Given the description of an element on the screen output the (x, y) to click on. 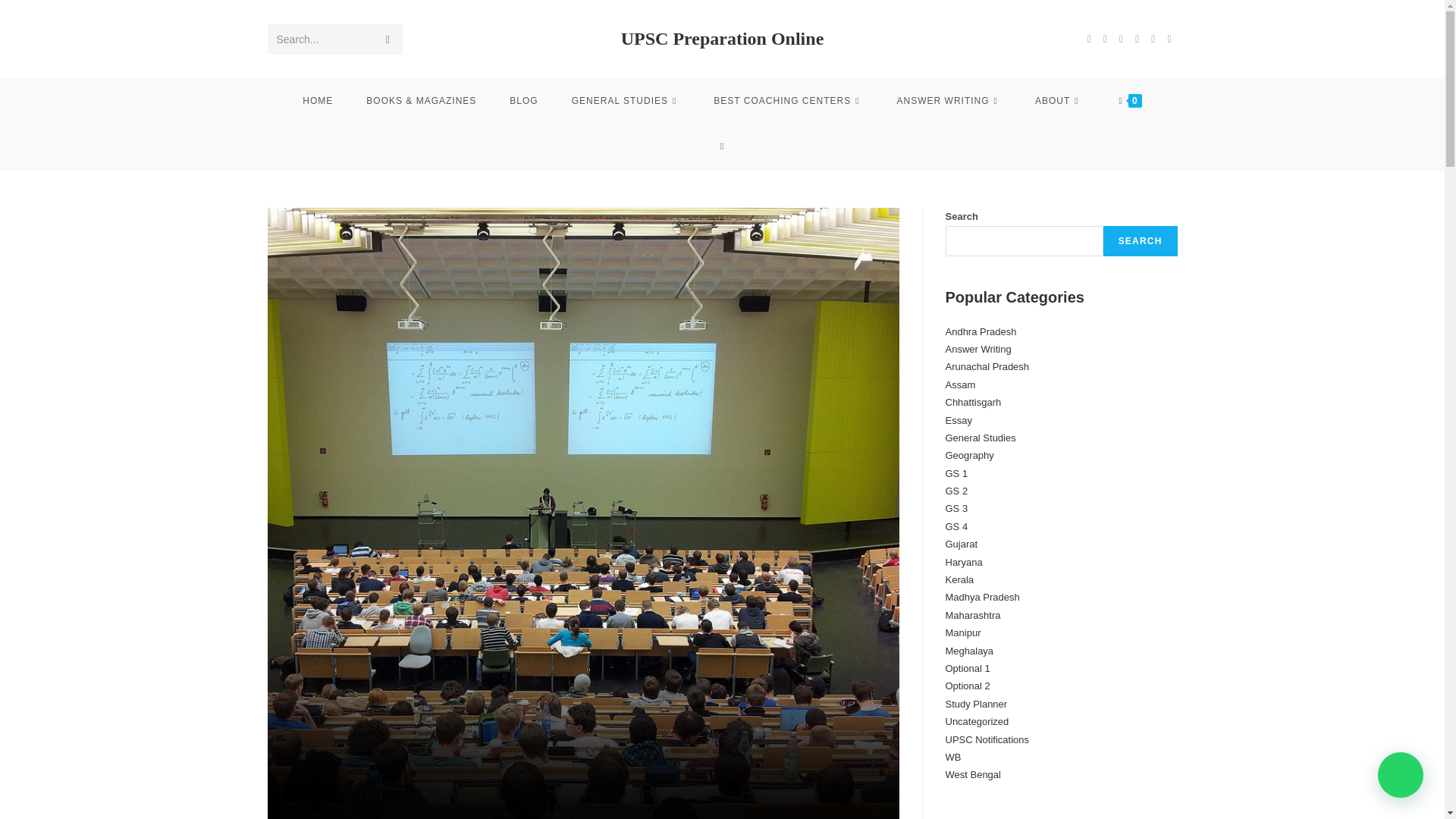
GENERAL STUDIES (625, 100)
BEST COACHING CENTERS (788, 100)
BLOG (523, 100)
UPSC Preparation Online (722, 38)
HOME (317, 100)
